Given the description of an element on the screen output the (x, y) to click on. 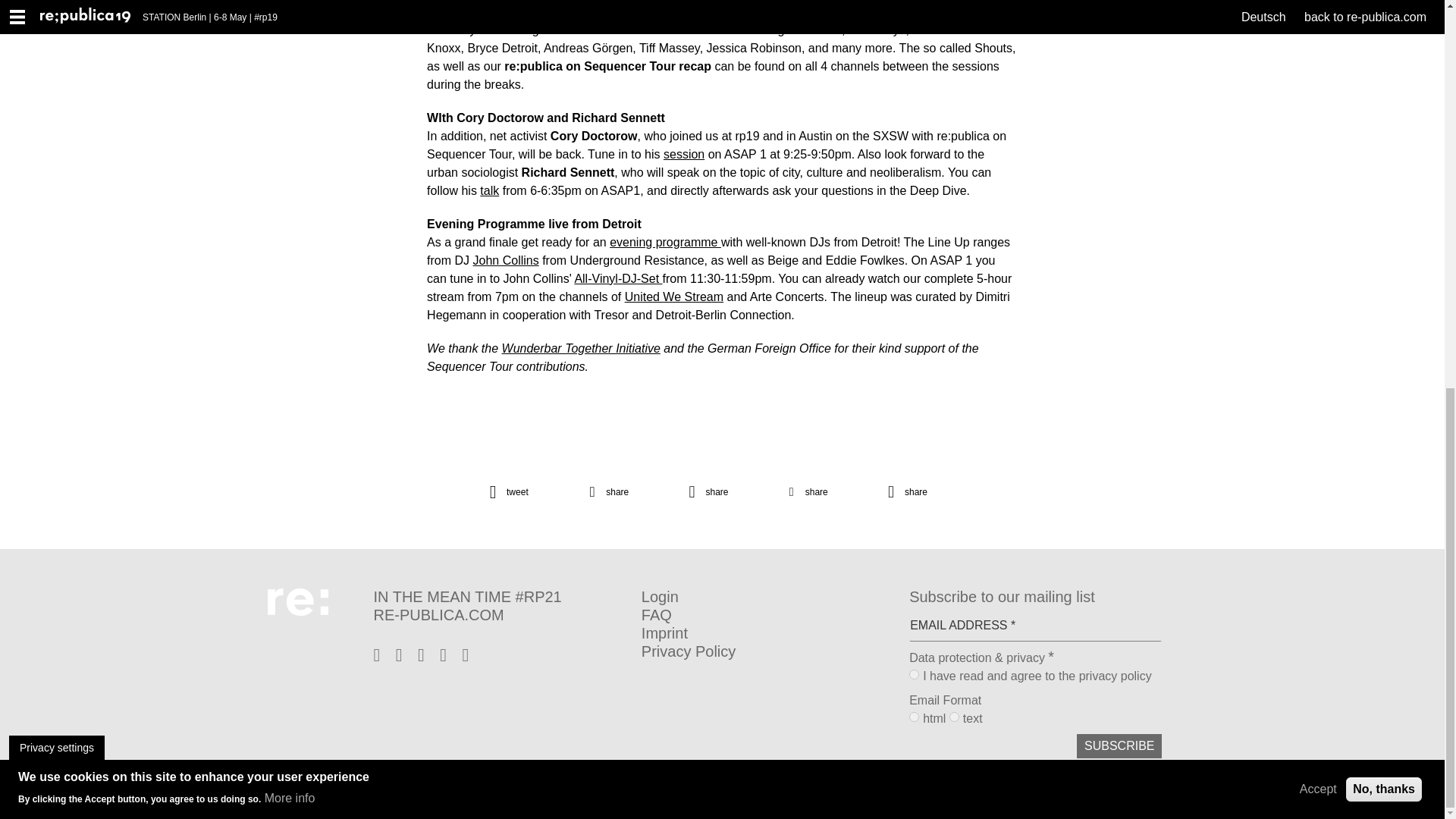
Share on Threema (920, 491)
Subscribe (1119, 745)
Share on Facebook (621, 491)
More info (289, 60)
Privacy settings (56, 11)
html (913, 716)
re:publica global site (499, 614)
No, thanks (1383, 52)
text (954, 716)
Share on Whatsapp (722, 491)
Share on Diaspora (821, 491)
Share on Twitter (522, 491)
Accept (1318, 52)
